Given the description of an element on the screen output the (x, y) to click on. 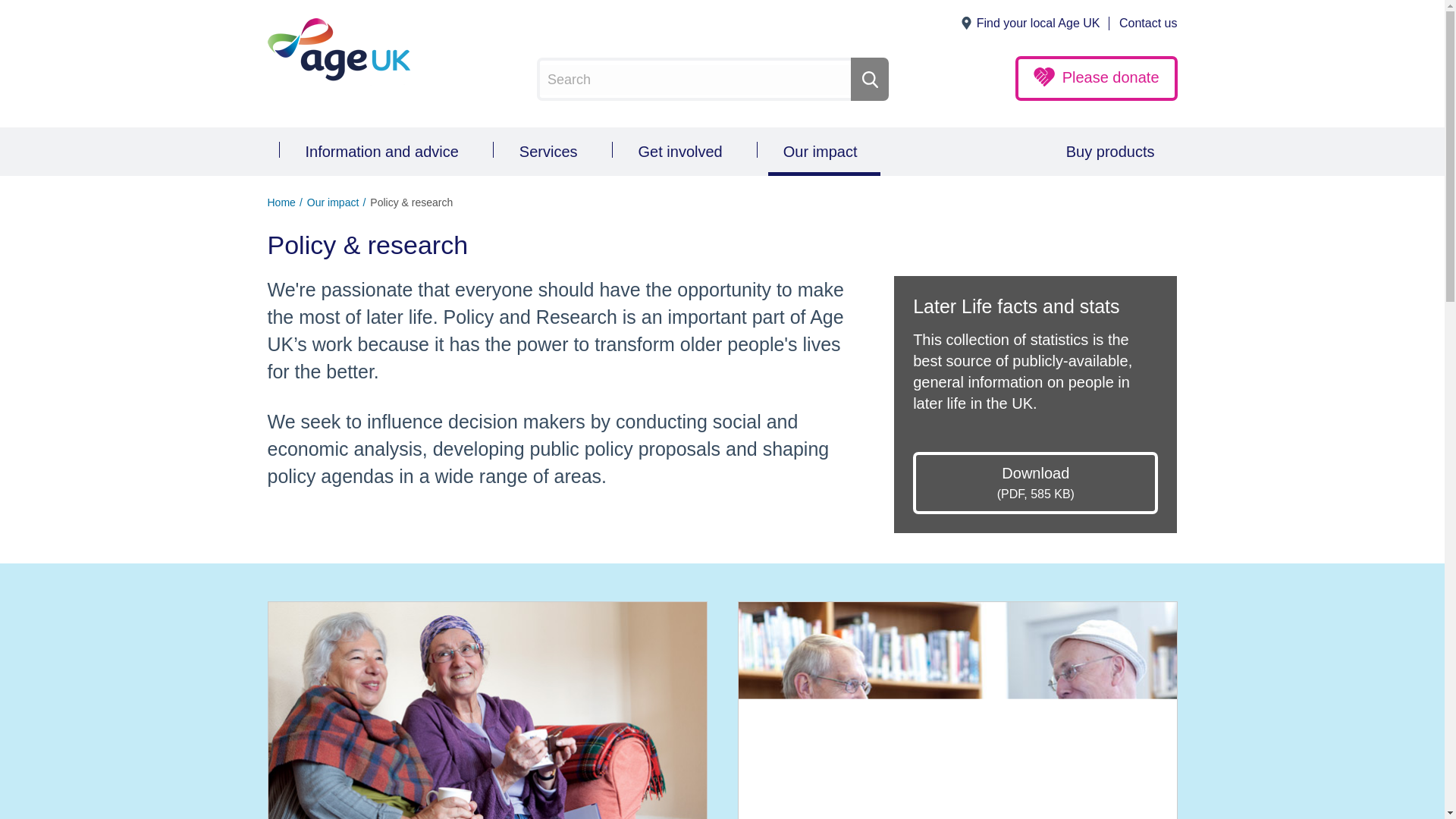
Please donate (1095, 78)
Contact us (1147, 23)
Find your local Age UK (1037, 23)
Information and advice (384, 151)
